Given the description of an element on the screen output the (x, y) to click on. 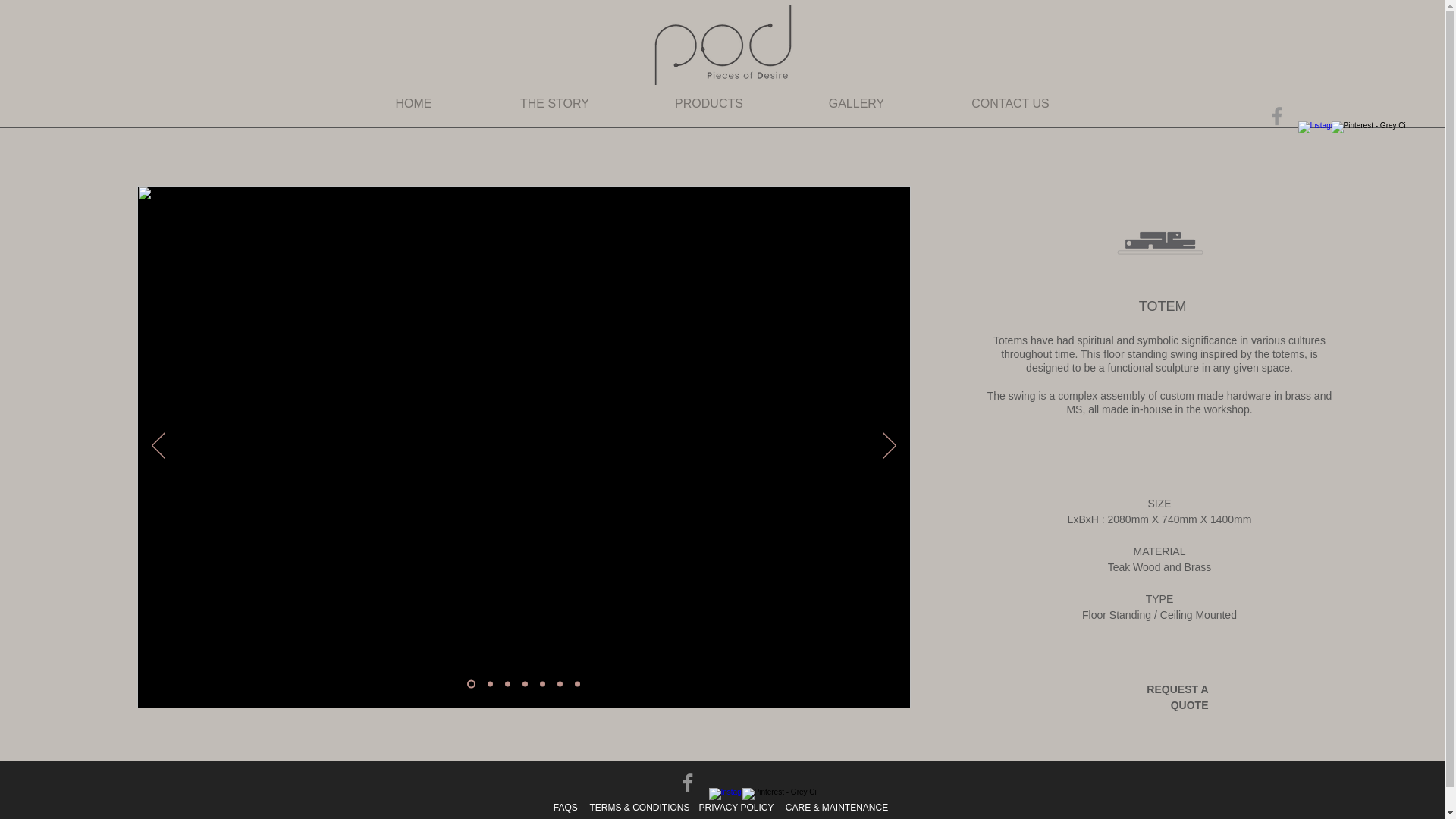
FAQS  (566, 802)
GALLERY (856, 103)
POD-FONT.png (722, 44)
HOME (413, 103)
CONTACT US (1009, 103)
PRIVACY POLICY (736, 802)
REQUEST A QUOTE (1177, 697)
PRODUCTS (708, 103)
THE STORY (554, 103)
